Given the description of an element on the screen output the (x, y) to click on. 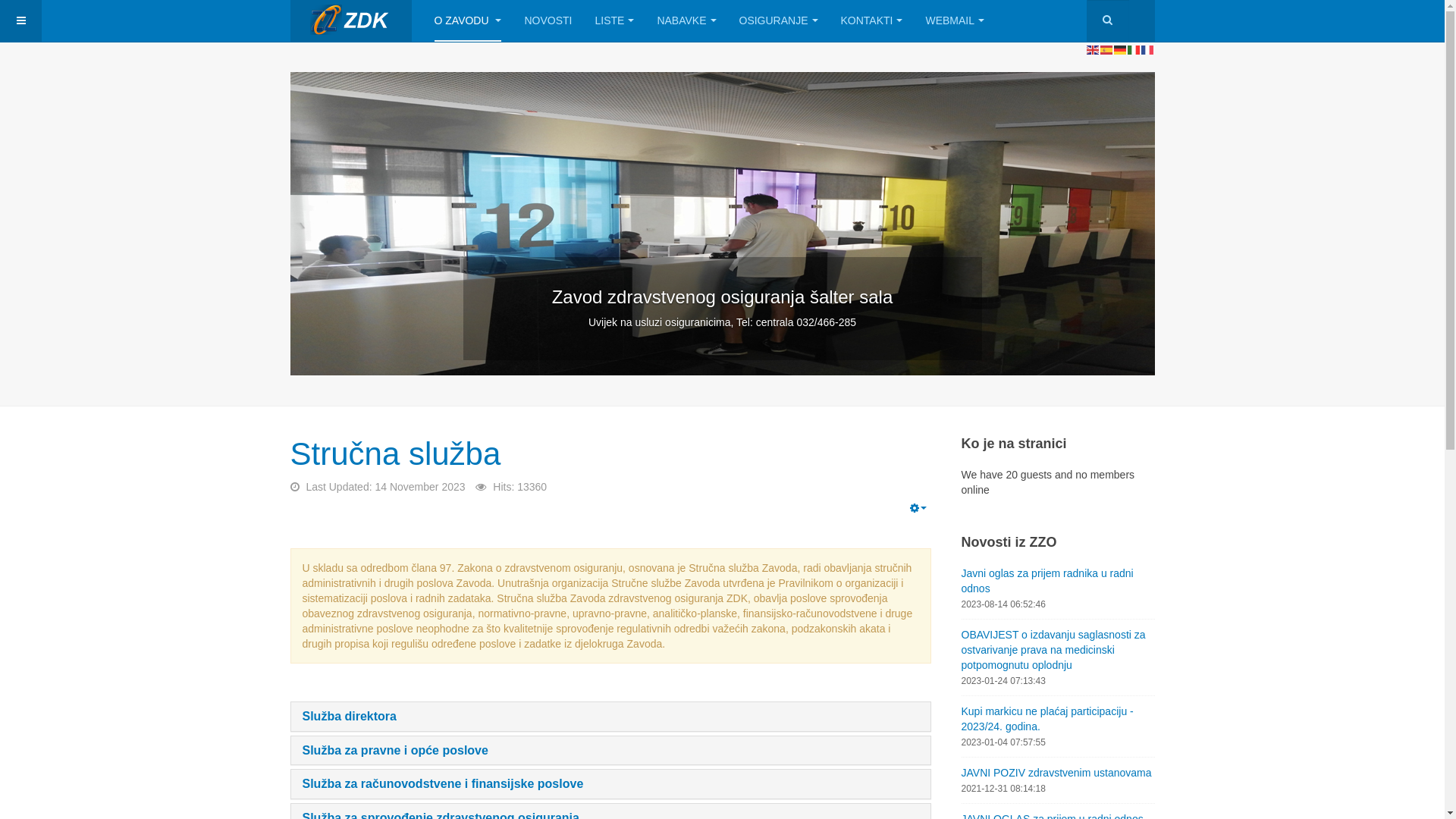
JAVNI POZIV zdravstvenim ustanovama Element type: text (1057, 772)
KONTAKTI Element type: text (871, 20)
English Element type: hover (1092, 49)
Javni oglas za prijem radnika u radni odnos Element type: text (1057, 580)
NOVOSTI Element type: text (547, 20)
OSIGURANJE Element type: text (777, 20)
NABAVKE Element type: text (685, 20)
Italiano Element type: hover (1133, 49)
Deutsch Element type: hover (1119, 49)
WEBMAIL Element type: text (954, 20)
Zavod zdravstvenog osiguranja Element type: hover (350, 20)
LISTE Element type: text (613, 20)
O ZAVODU Element type: text (467, 20)
